Given the description of an element on the screen output the (x, y) to click on. 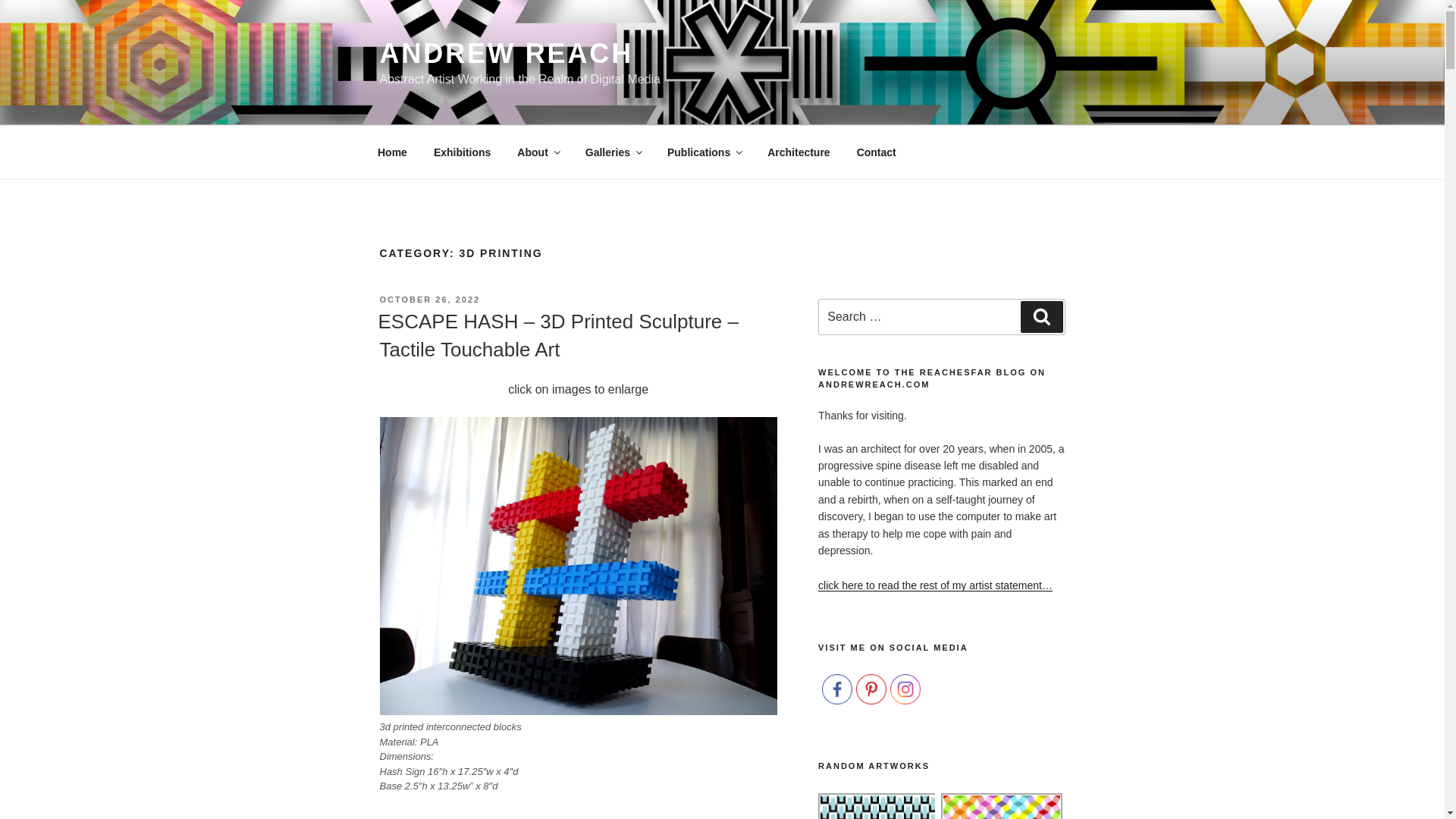
Galleries (612, 151)
About (537, 151)
ANDREW REACH (505, 52)
Contact (875, 151)
Exhibitions (461, 151)
Home (392, 151)
Instagram (904, 689)
OCTOBER 26, 2022 (429, 298)
Facebook (836, 689)
Publications (703, 151)
Pinterest (871, 689)
Architecture (798, 151)
